Given the description of an element on the screen output the (x, y) to click on. 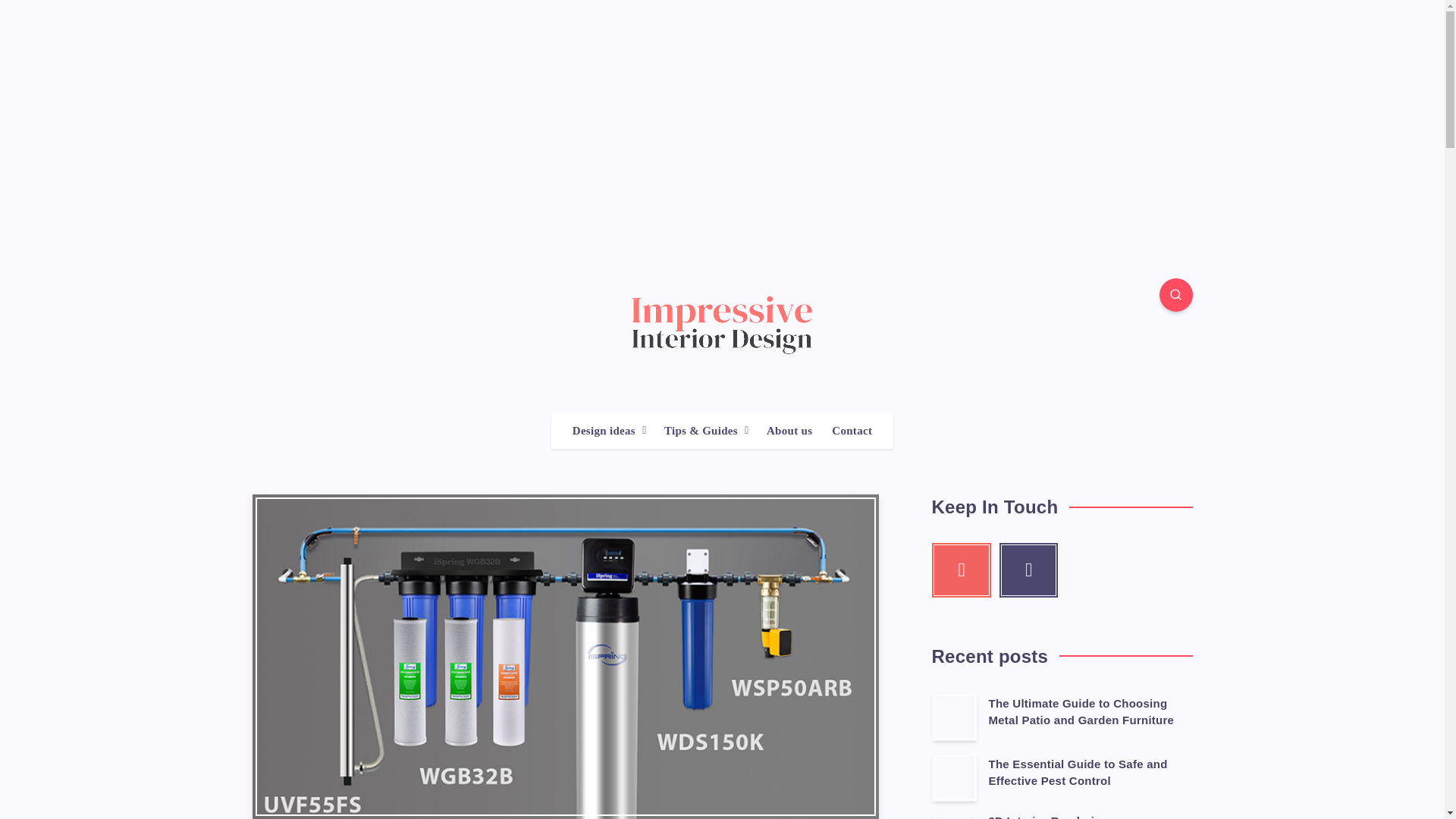
Design ideas (603, 431)
